Given the description of an element on the screen output the (x, y) to click on. 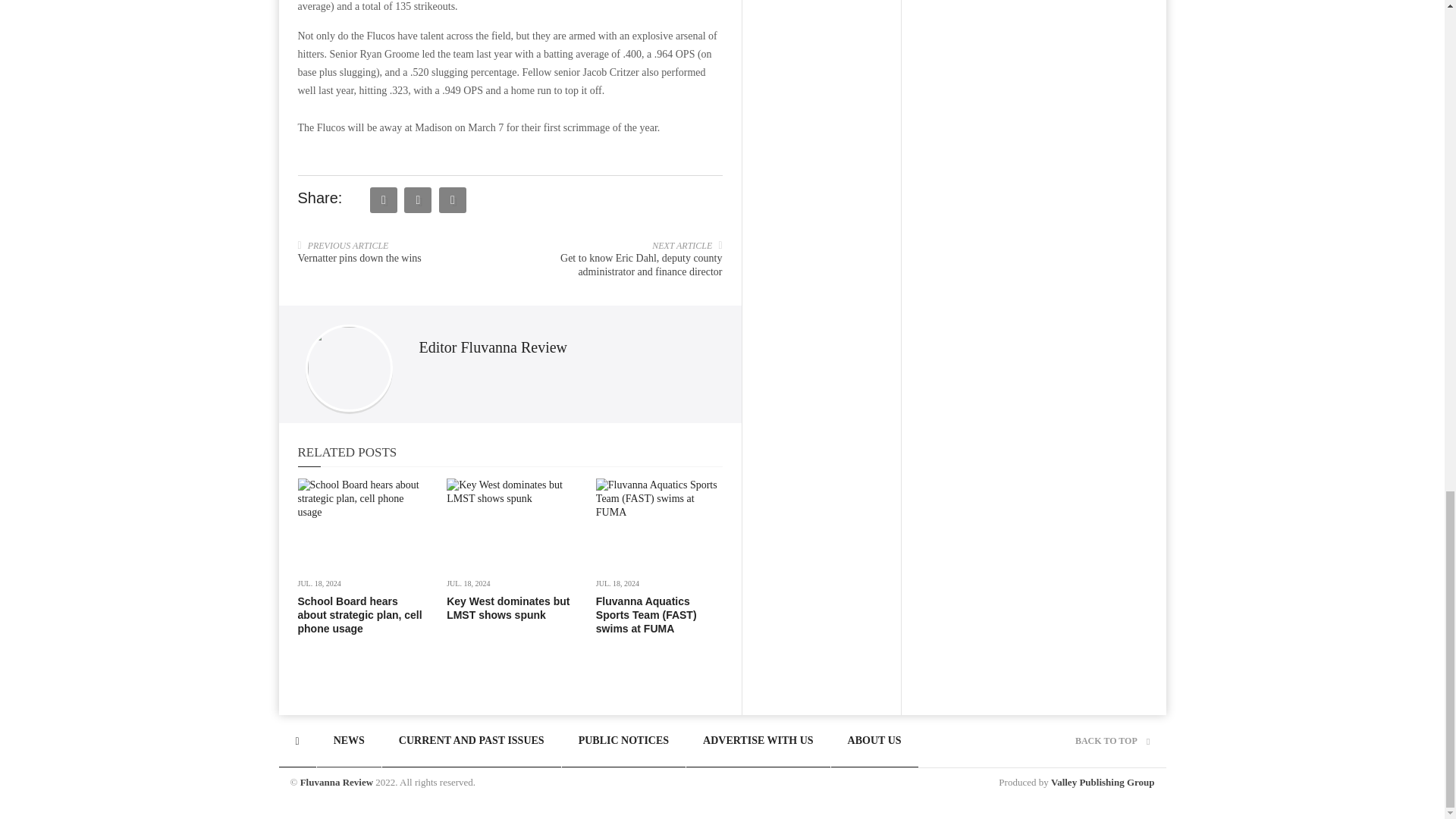
Posts by Editor Fluvanna Review (493, 346)
Vernatter pins down the wins (358, 257)
BACK TO TOP (1112, 740)
